Given the description of an element on the screen output the (x, y) to click on. 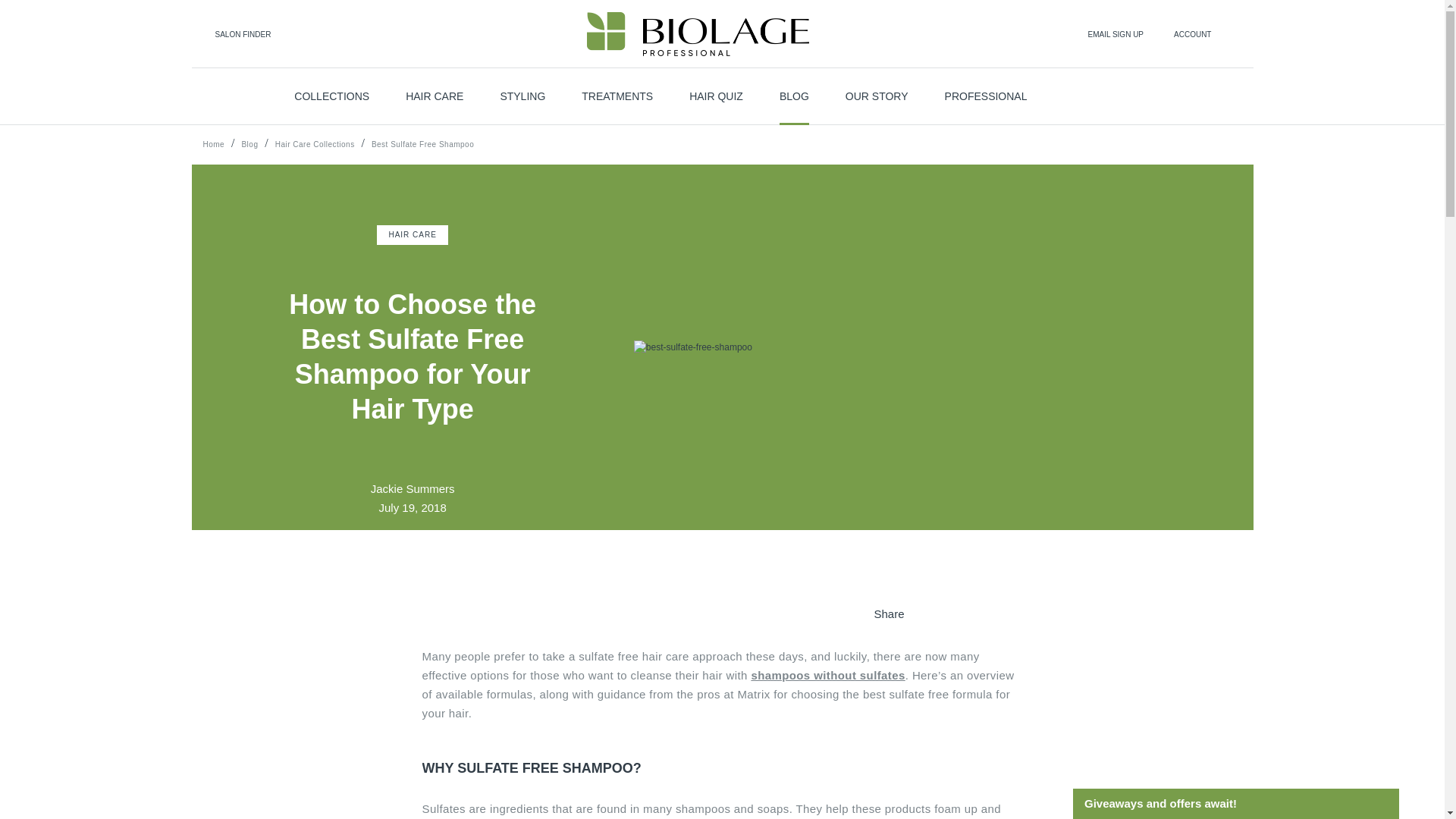
EMAIL SIGN UP (1114, 34)
Collections (331, 96)
Logo (697, 34)
ACCOUNT (1192, 34)
SALON FINDER (214, 33)
COLLECTIONS (331, 96)
